Given the description of an element on the screen output the (x, y) to click on. 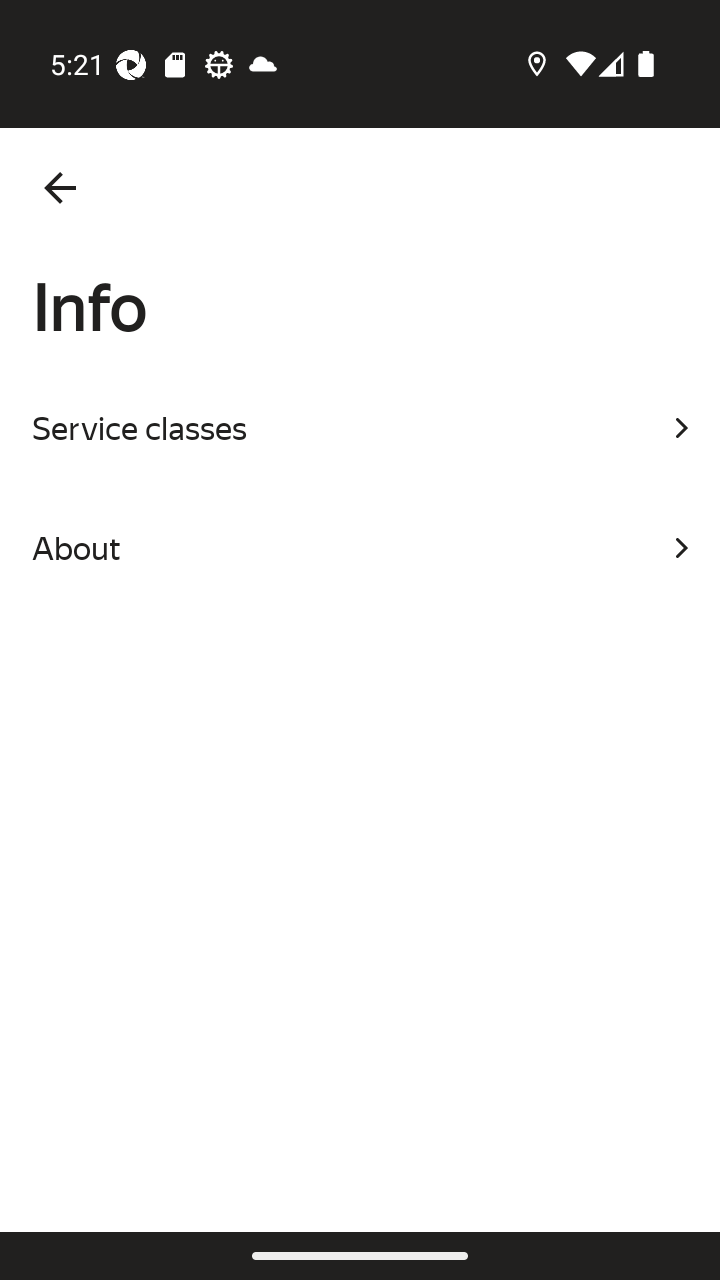
Back (60, 188)
Service classes (360, 427)
About (360, 547)
